Given the description of an element on the screen output the (x, y) to click on. 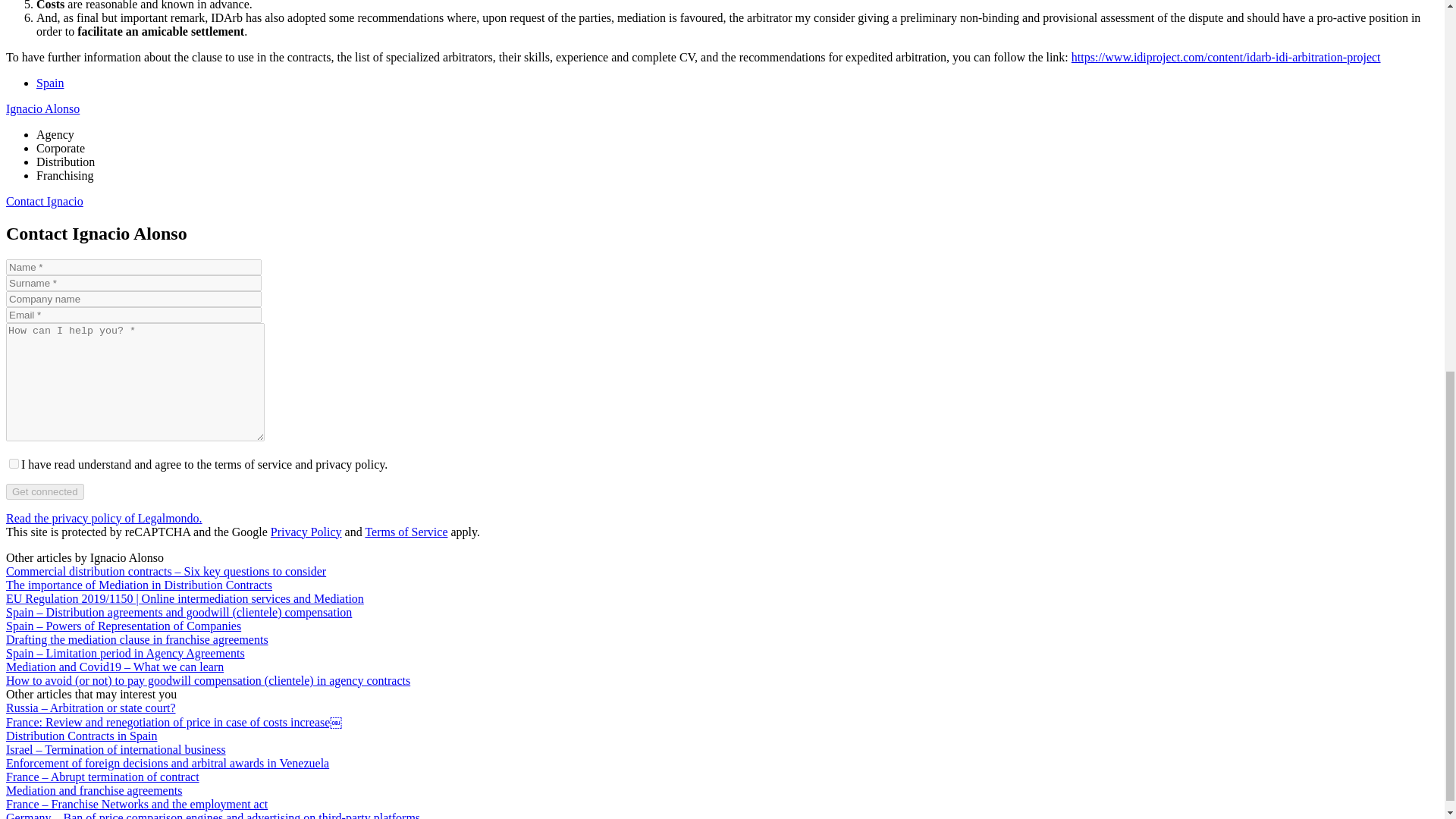
Privacy Policy (306, 531)
Ignacio Alonso (42, 108)
Terms of Service (405, 531)
Read the privacy policy of Legalmondo. (103, 517)
Spain (50, 82)
Contact Ignacio (43, 201)
Get connected (44, 491)
